Given the description of an element on the screen output the (x, y) to click on. 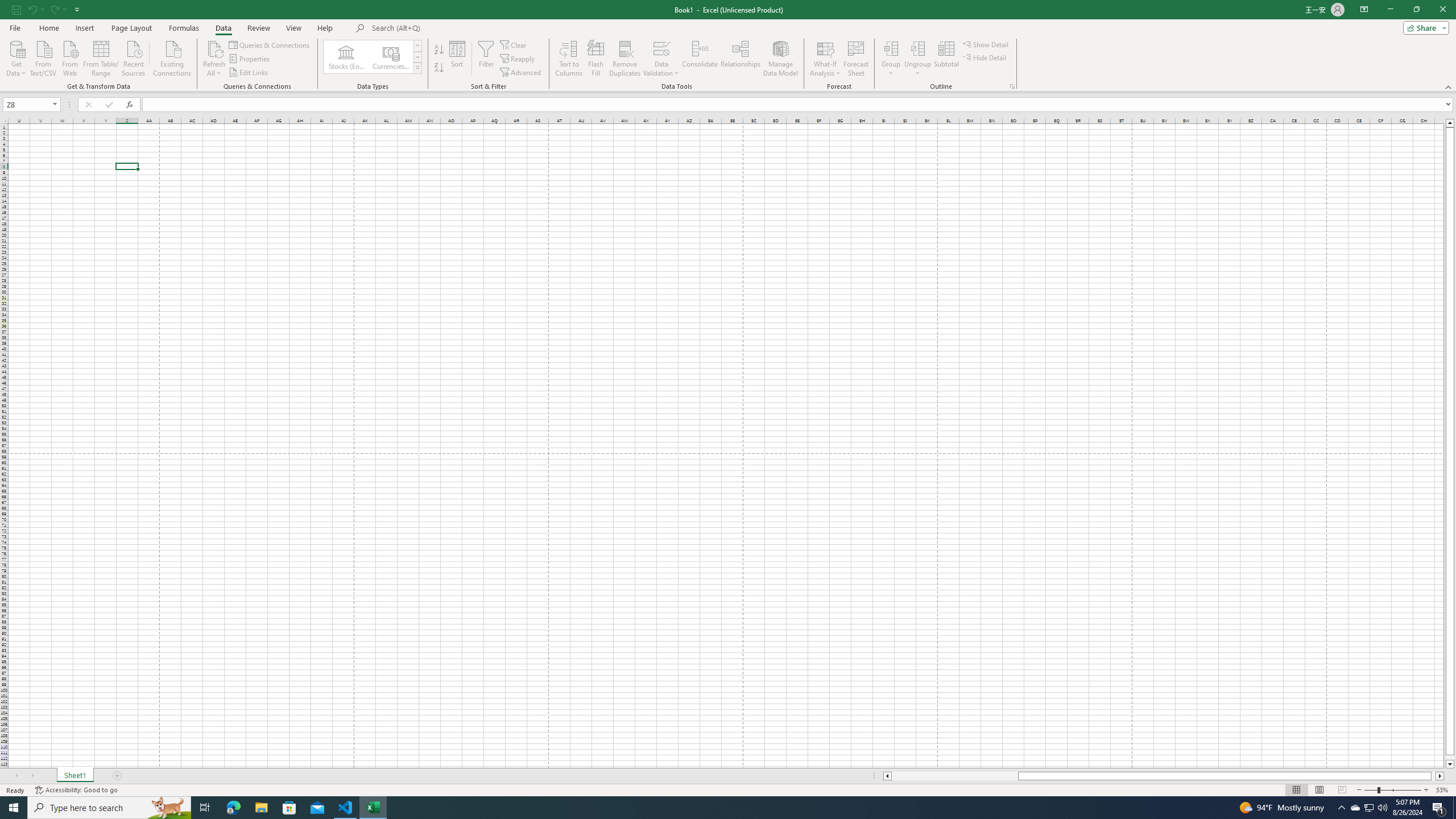
Scroll Right (32, 775)
Zoom In (1426, 790)
Zoom Out (1370, 790)
Queries & Connections (270, 44)
Manage Data Model (780, 58)
Line up (1449, 122)
Group... (890, 58)
Restore Down (1416, 9)
Sheet1 (74, 775)
Row up (417, 45)
Consolidate... (700, 58)
